Given the description of an element on the screen output the (x, y) to click on. 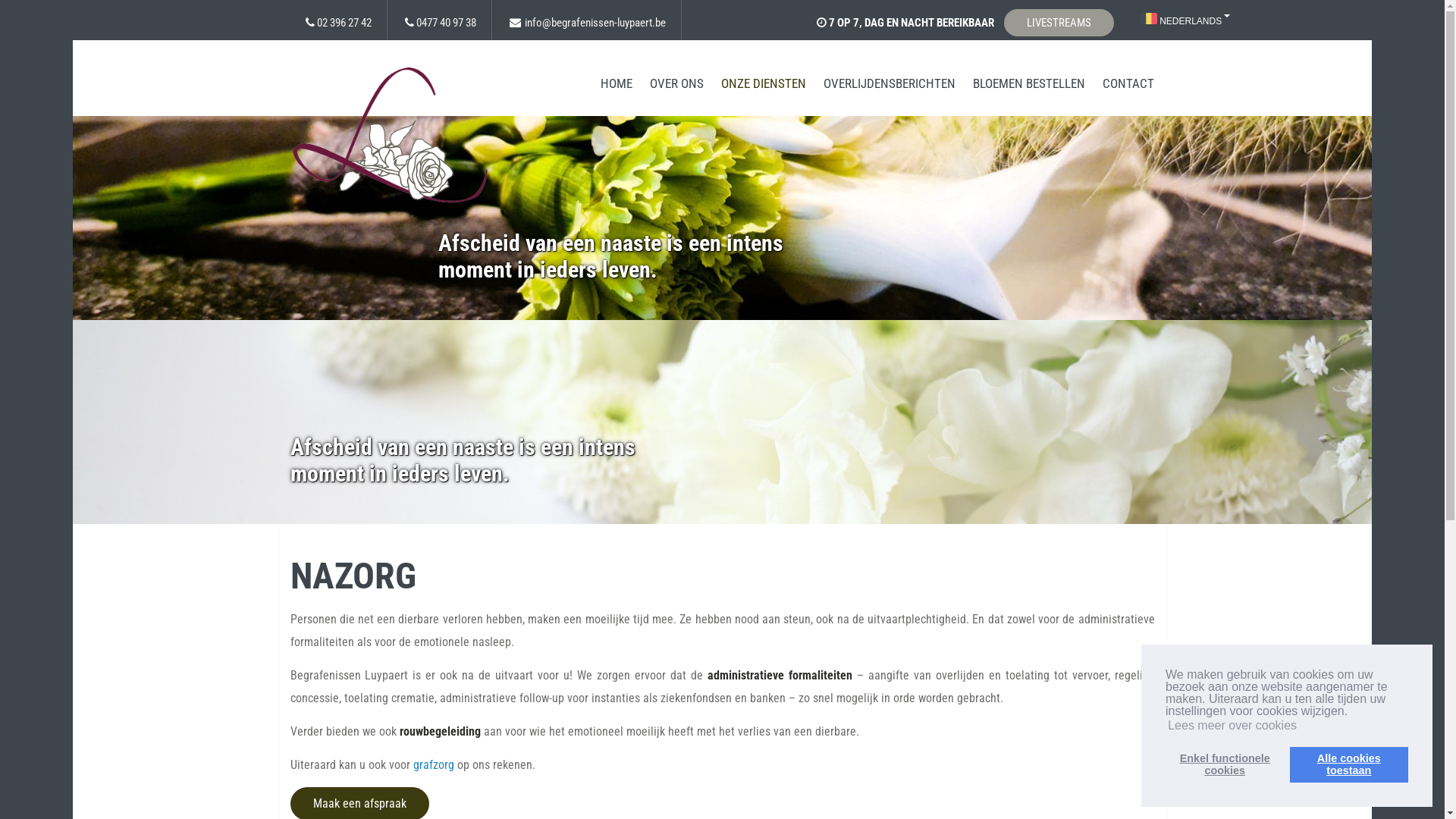
Alle cookies
toestaan Element type: text (1348, 764)
HOME Element type: text (616, 83)
OVER ONS Element type: text (676, 83)
info@begrafenissen-luypaert.be Element type: text (594, 22)
LIVESTREAMS Element type: text (1058, 22)
Enkel functionele
cookies Element type: text (1224, 764)
02 396 27 42 Element type: text (343, 22)
CONTACT Element type: text (1128, 83)
grafzorg Element type: text (432, 764)
BLOEMEN BESTELLEN Element type: text (1028, 83)
ONZE DIENSTEN Element type: text (763, 83)
NEDERLANDS Element type: text (1185, 20)
Lees meer over cookies Element type: text (1232, 725)
OVERLIJDENSBERICHTEN Element type: text (889, 83)
0477 40 97 38 Element type: text (445, 22)
